Given the description of an element on the screen output the (x, y) to click on. 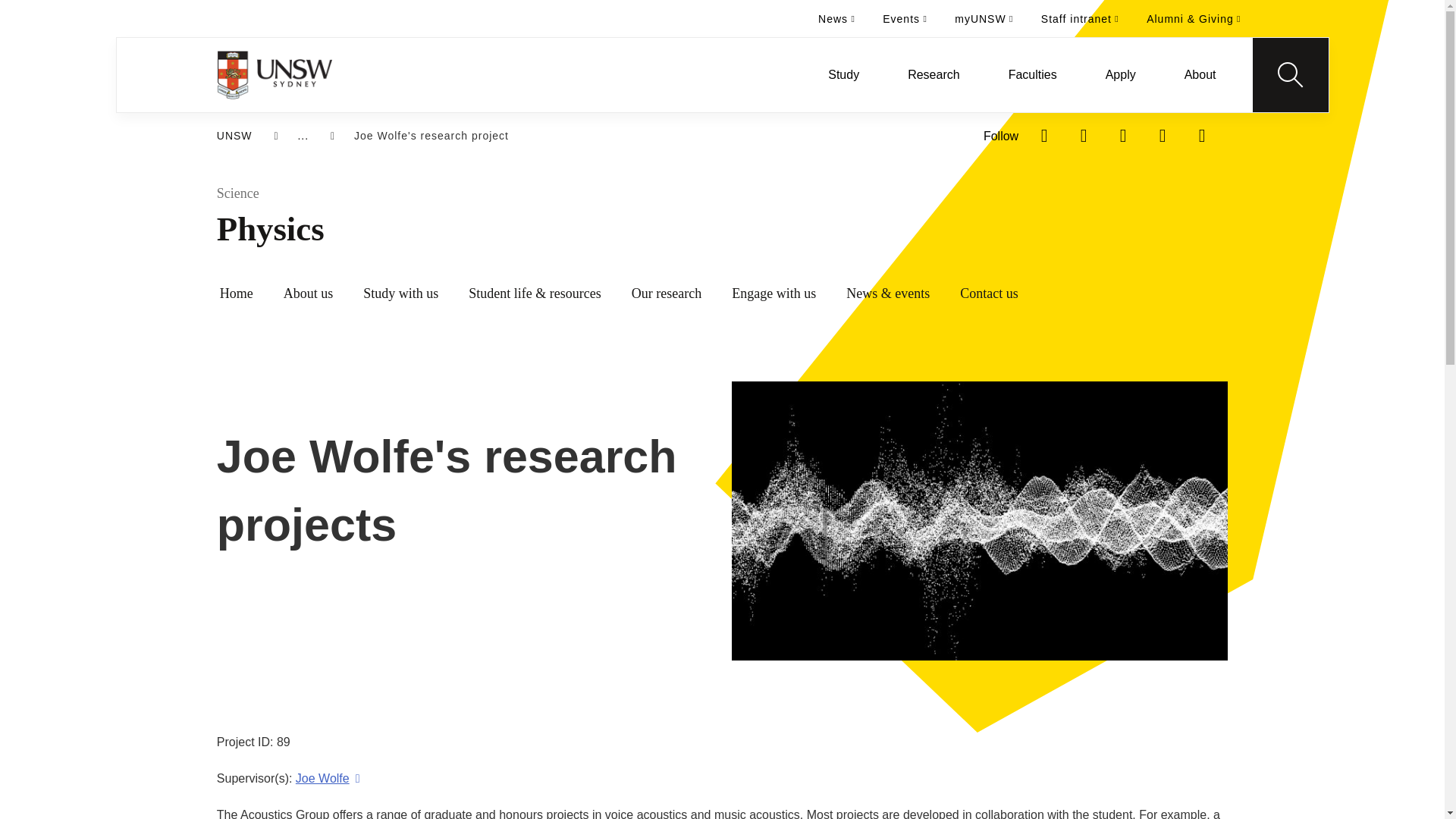
About us (308, 294)
UNSW (233, 135)
myUNSW (983, 18)
Research (933, 74)
Follow (1000, 136)
Apply (1120, 74)
About (1200, 74)
Events (904, 18)
Science (772, 194)
News (836, 18)
